Given the description of an element on the screen output the (x, y) to click on. 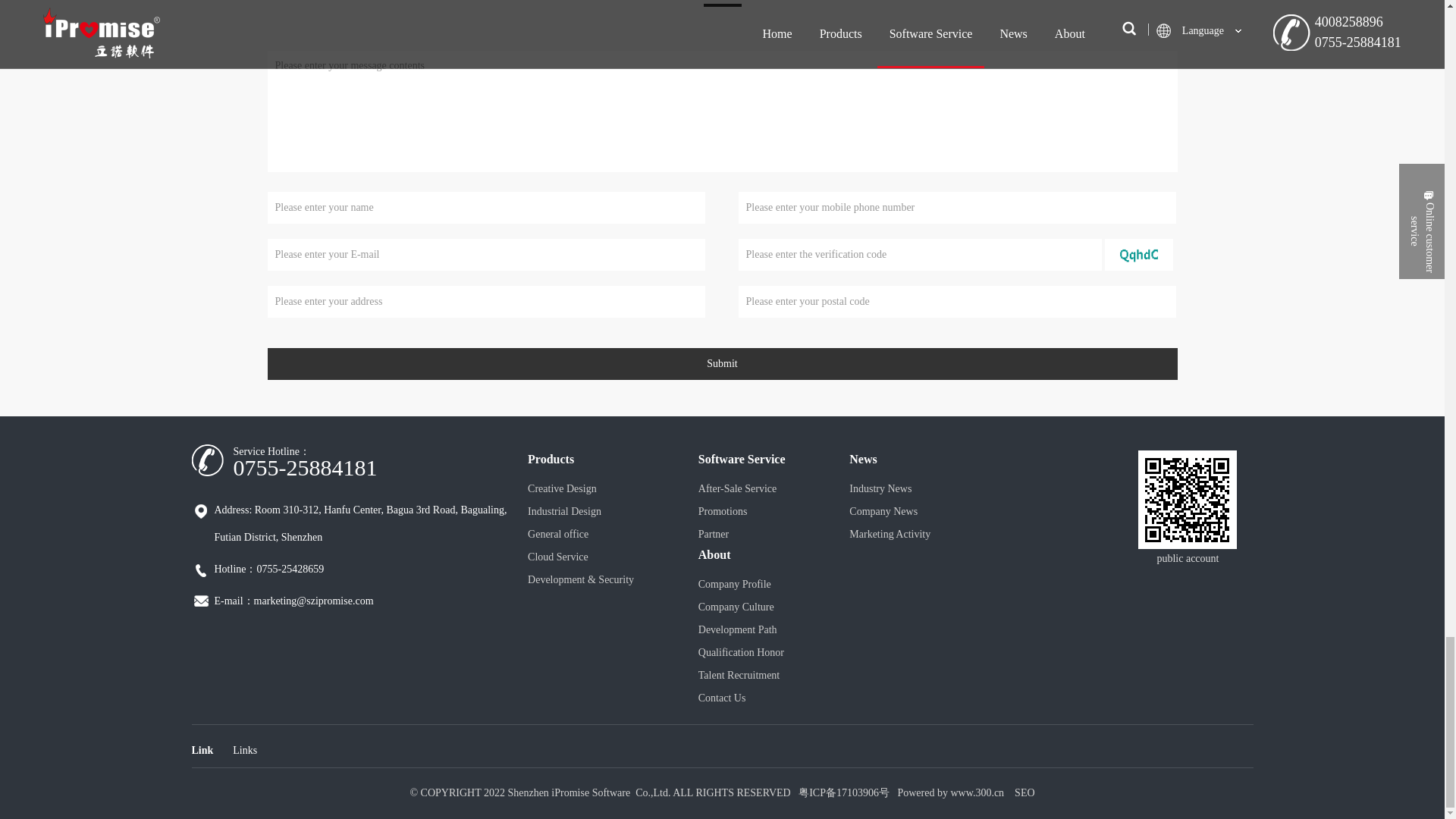
gzh (1187, 499)
